Given the description of an element on the screen output the (x, y) to click on. 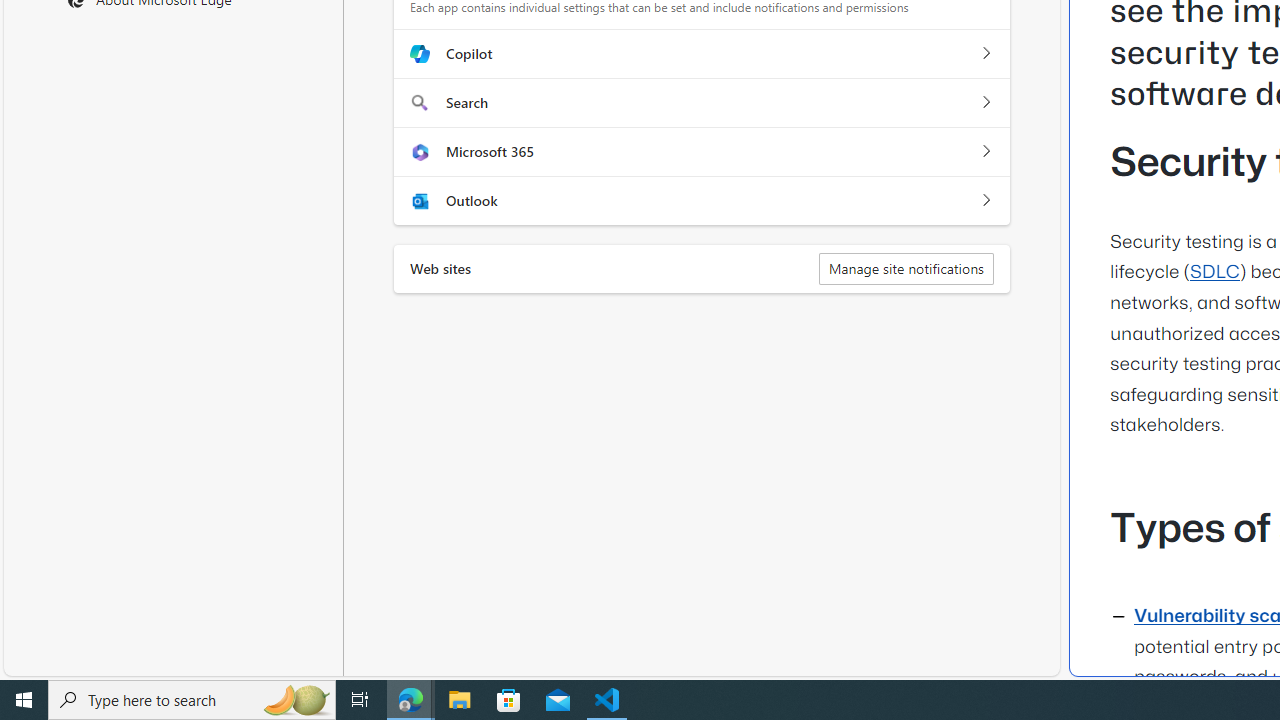
SDLC (1214, 273)
Manage site notifications (905, 268)
Copilot (985, 54)
